Given the description of an element on the screen output the (x, y) to click on. 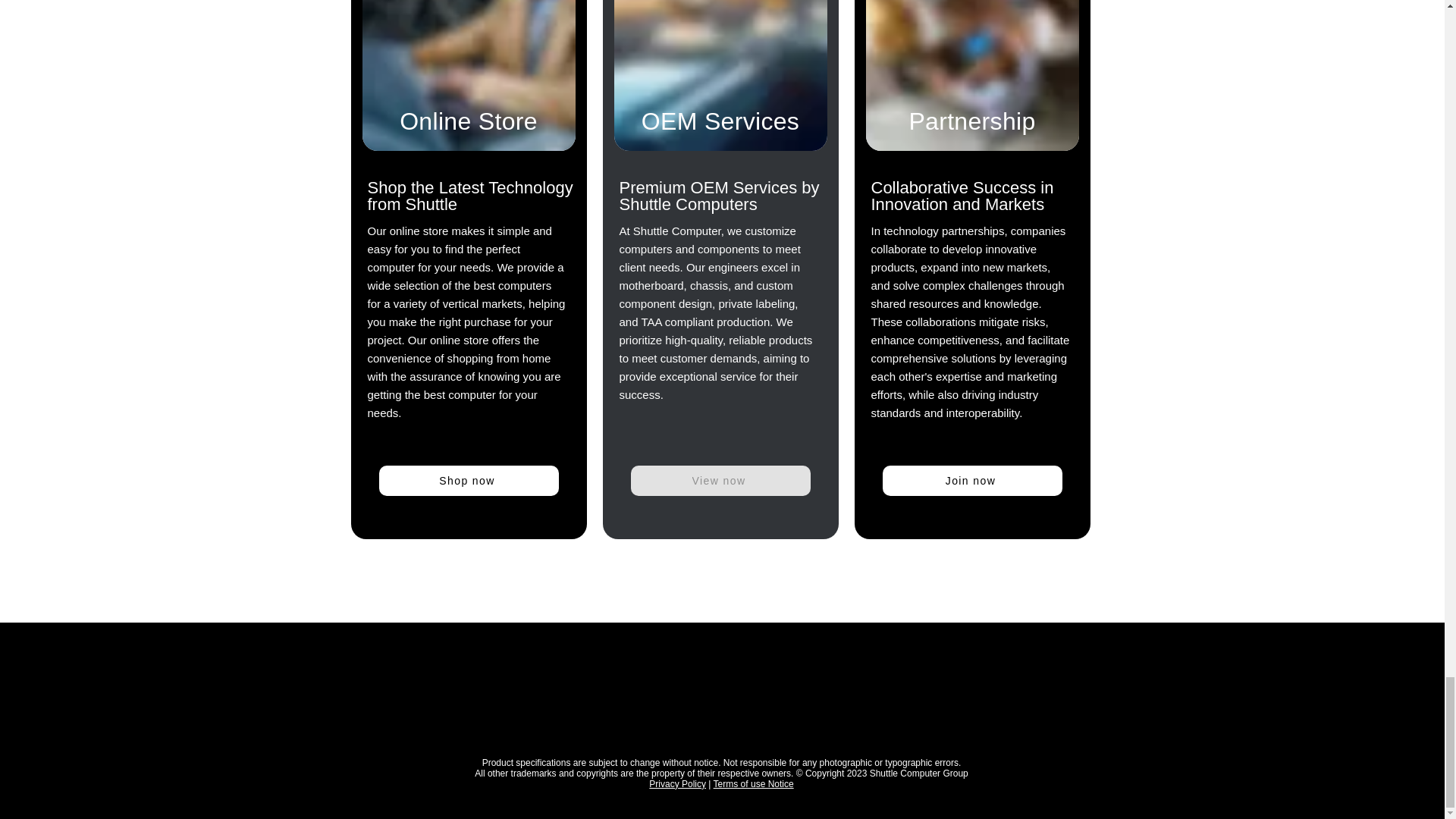
Privacy Policy (677, 783)
Terms of use Notice (753, 783)
Join now (972, 481)
Shop now (468, 481)
View now (720, 481)
